Given the description of an element on the screen output the (x, y) to click on. 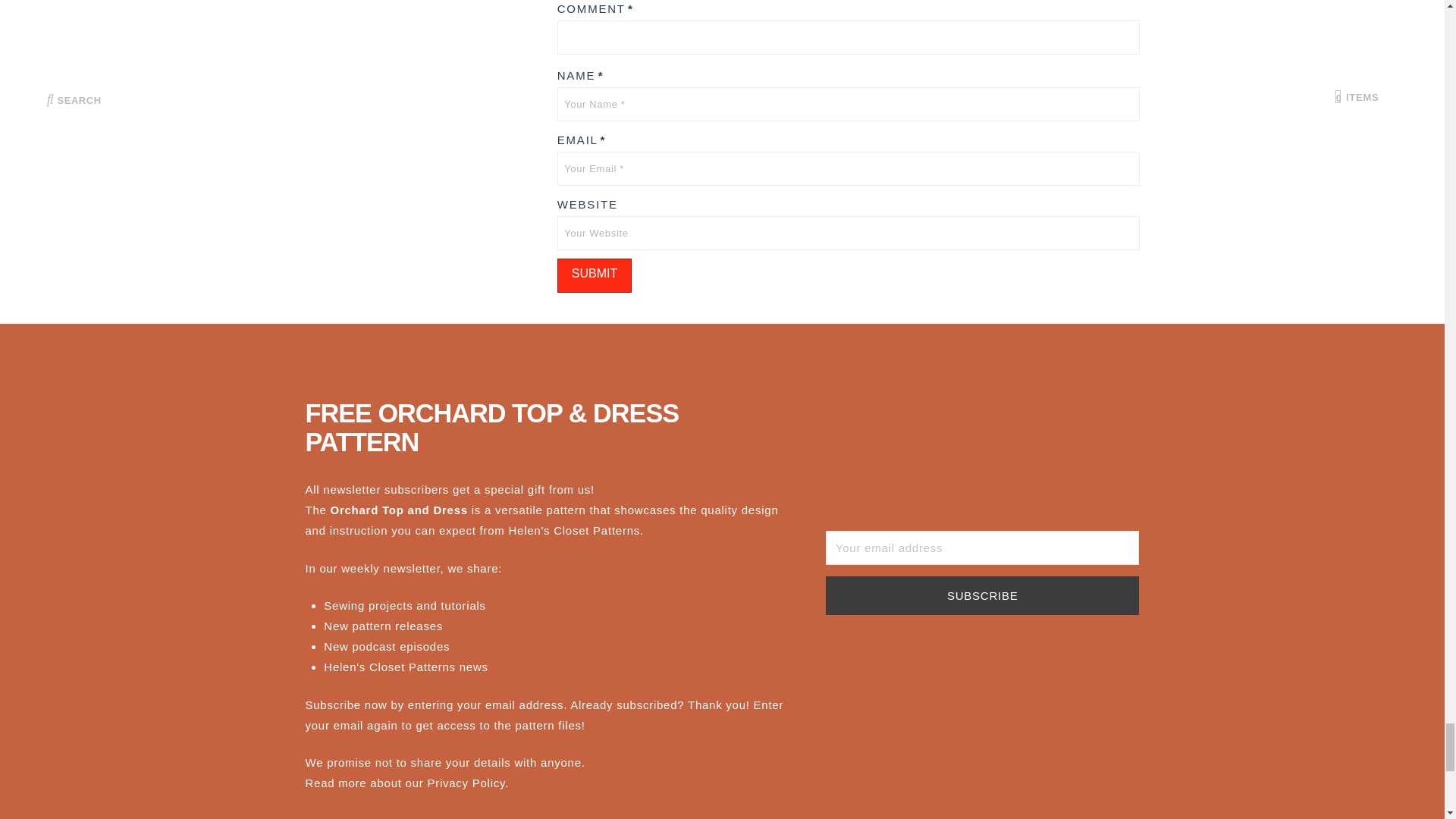
Submit (594, 275)
